Given the description of an element on the screen output the (x, y) to click on. 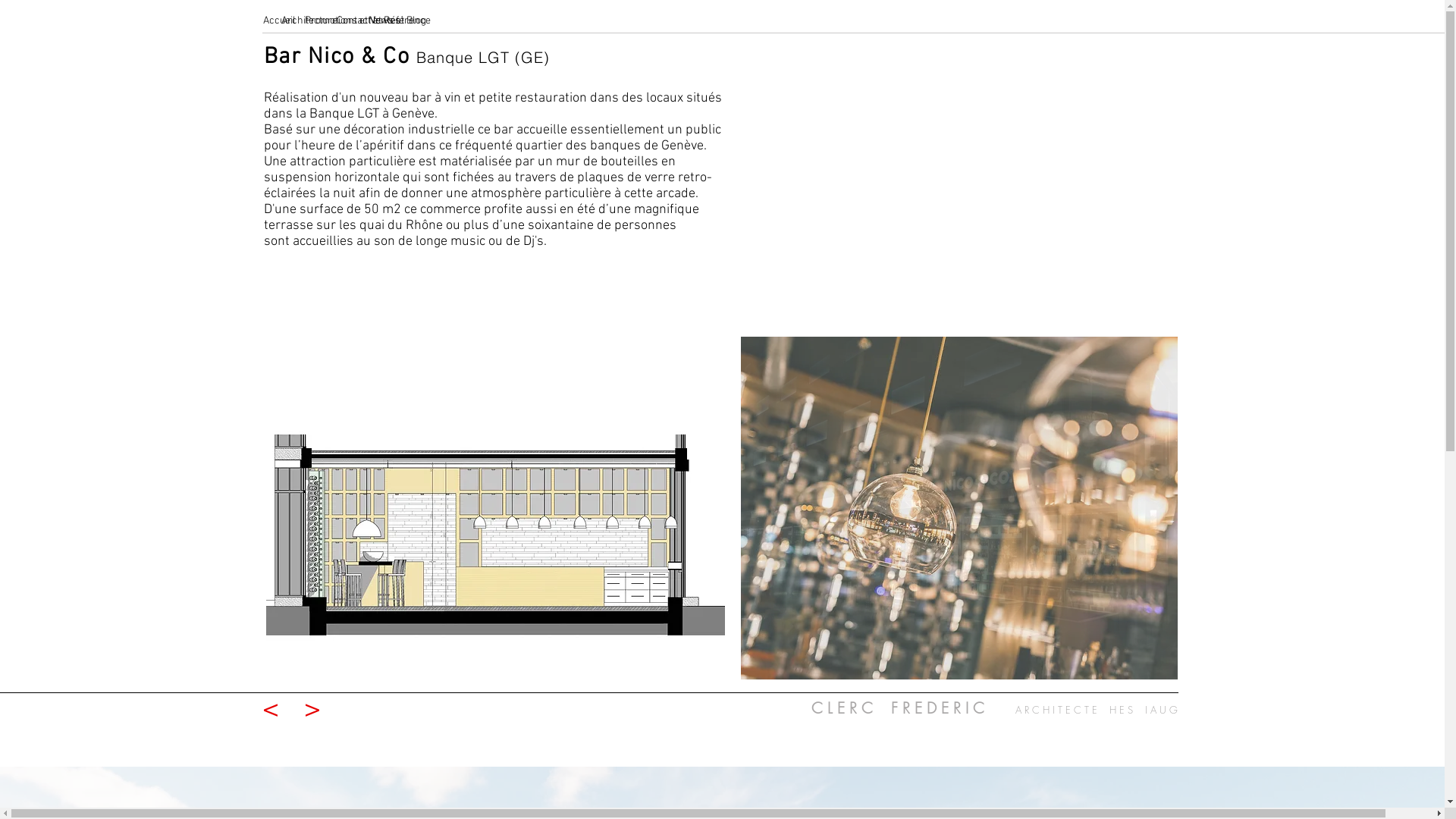
Architecture Element type: text (281, 20)
News et Blog Element type: text (367, 20)
< Element type: text (270, 711)
Promotions et Ventes Element type: text (308, 20)
Accueil Element type: text (260, 20)
> Element type: text (311, 711)
